Given the description of an element on the screen output the (x, y) to click on. 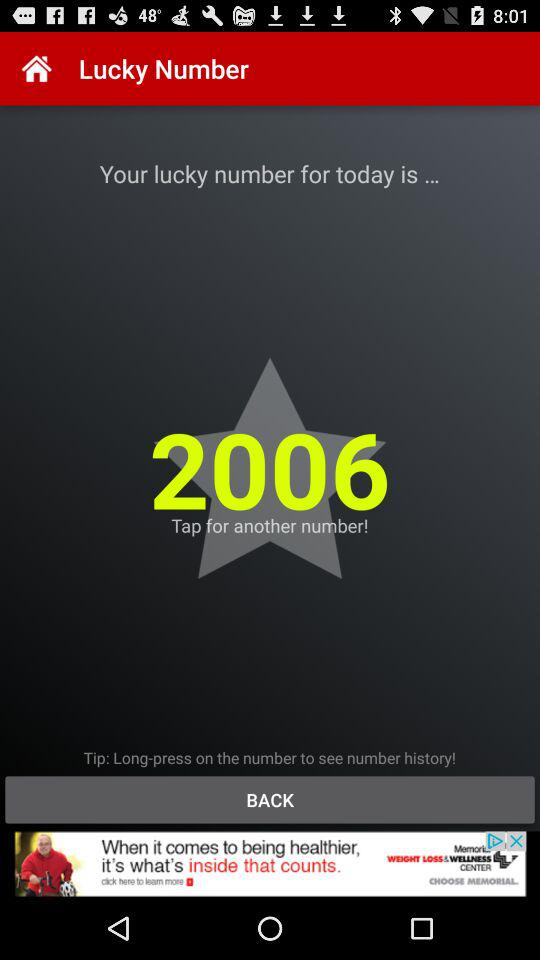
advertisement link (270, 864)
